Given the description of an element on the screen output the (x, y) to click on. 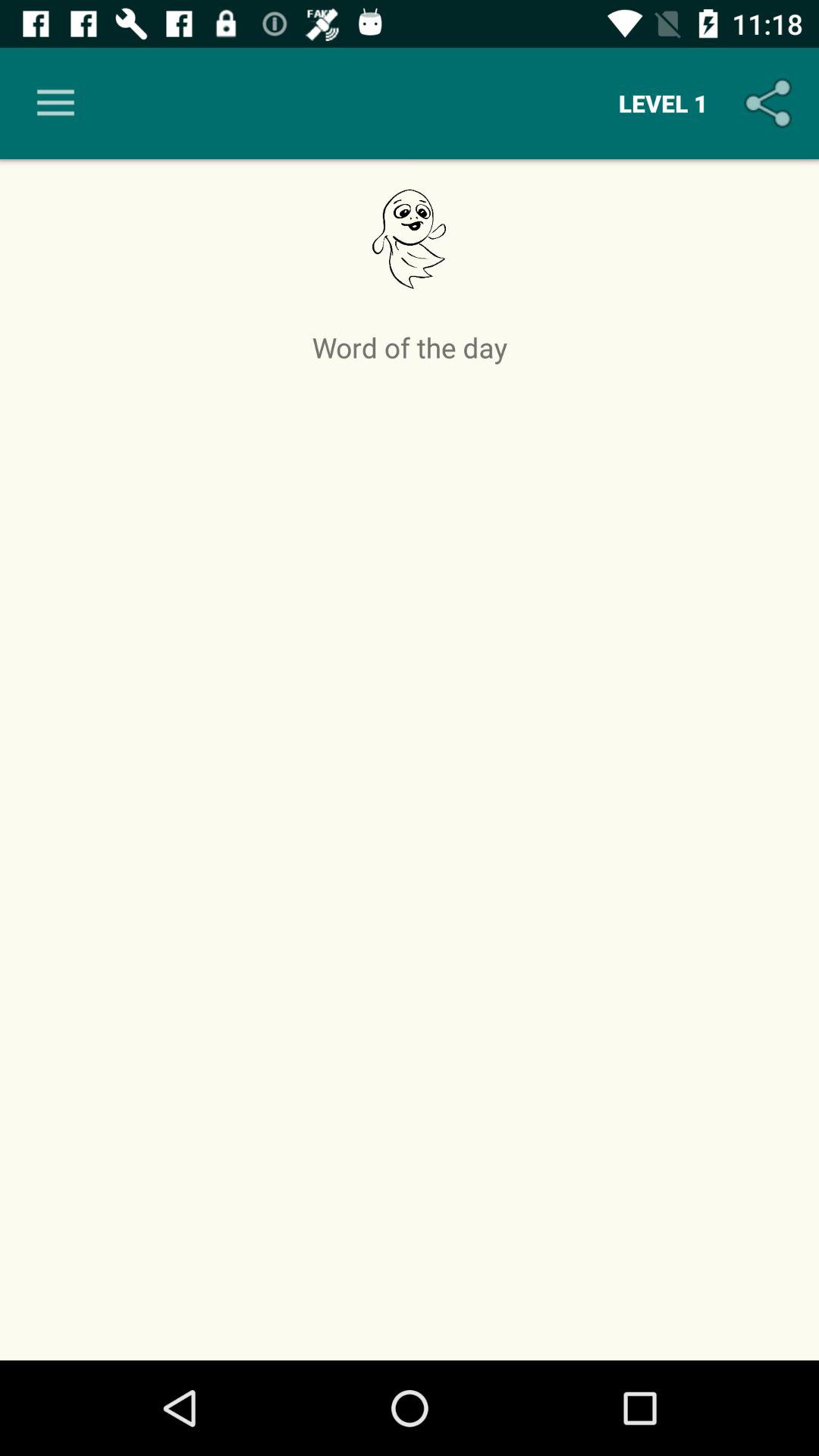
launch the icon next to level 1 icon (55, 103)
